Given the description of an element on the screen output the (x, y) to click on. 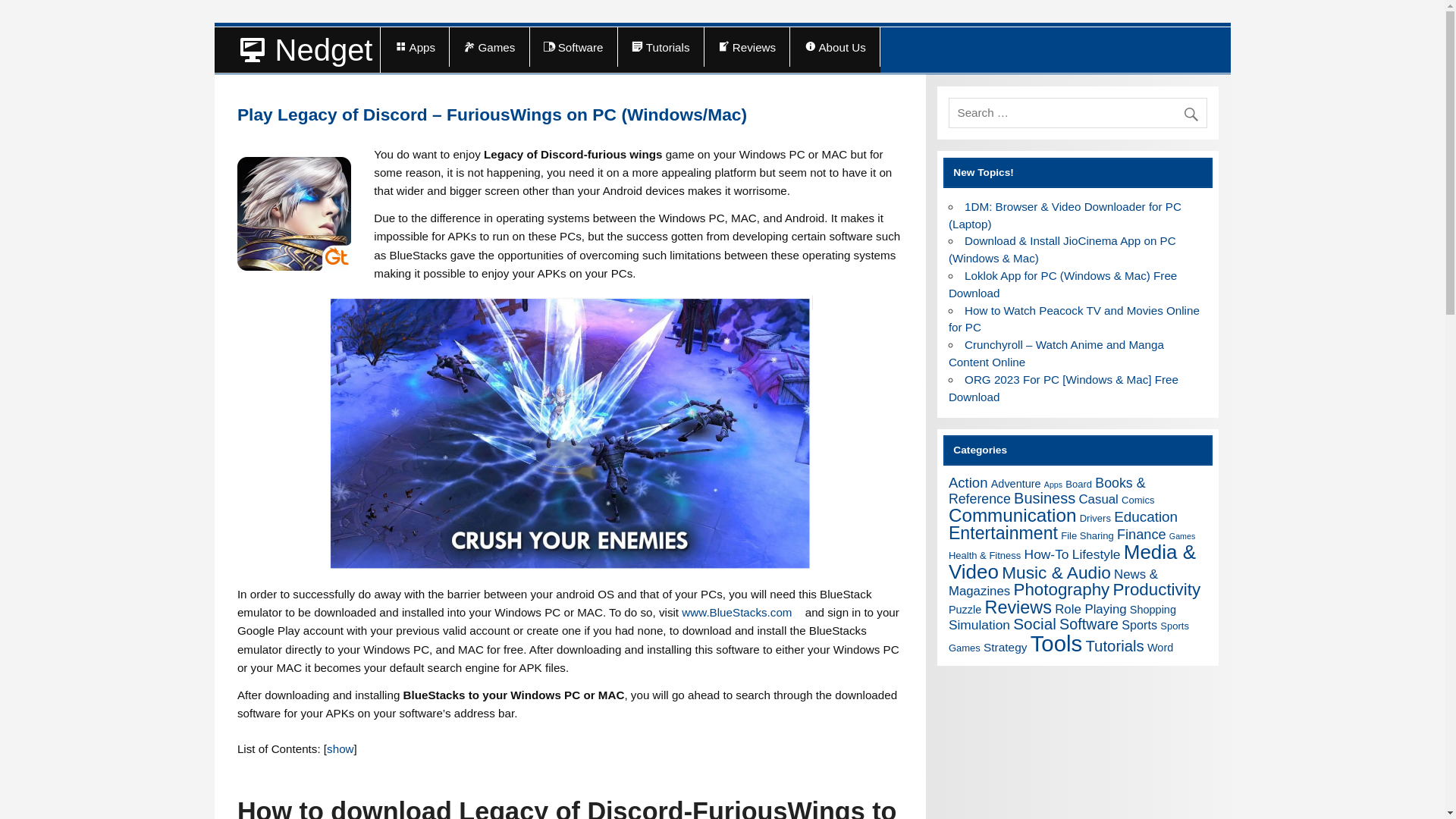
Apps (414, 46)
Nedget (297, 49)
How to Watch Peacock TV and Movies Online for PC (1074, 318)
www.BlueStacks.com (741, 612)
Games (488, 46)
Adventure (1016, 483)
About Us (834, 46)
Action (968, 482)
Software (573, 46)
Reviews (747, 46)
show (339, 748)
Board (1078, 483)
Apps (1052, 483)
Tutorials (660, 46)
